Given the description of an element on the screen output the (x, y) to click on. 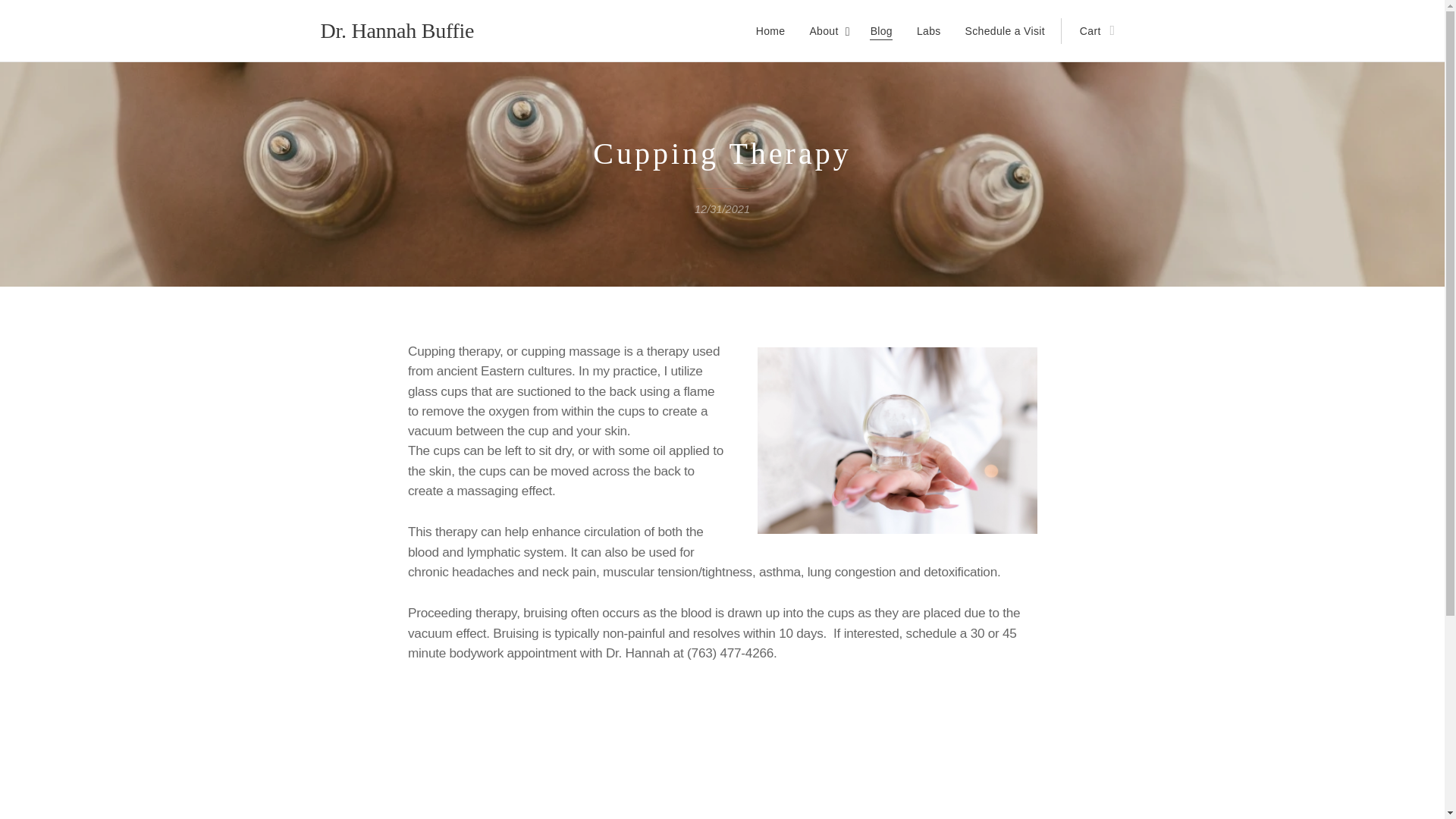
Blog (881, 30)
About (826, 30)
Cart (1092, 30)
Dr. Hannah Buffie (397, 30)
Home (774, 30)
Labs (928, 30)
Schedule a Visit (1005, 30)
